Given the description of an element on the screen output the (x, y) to click on. 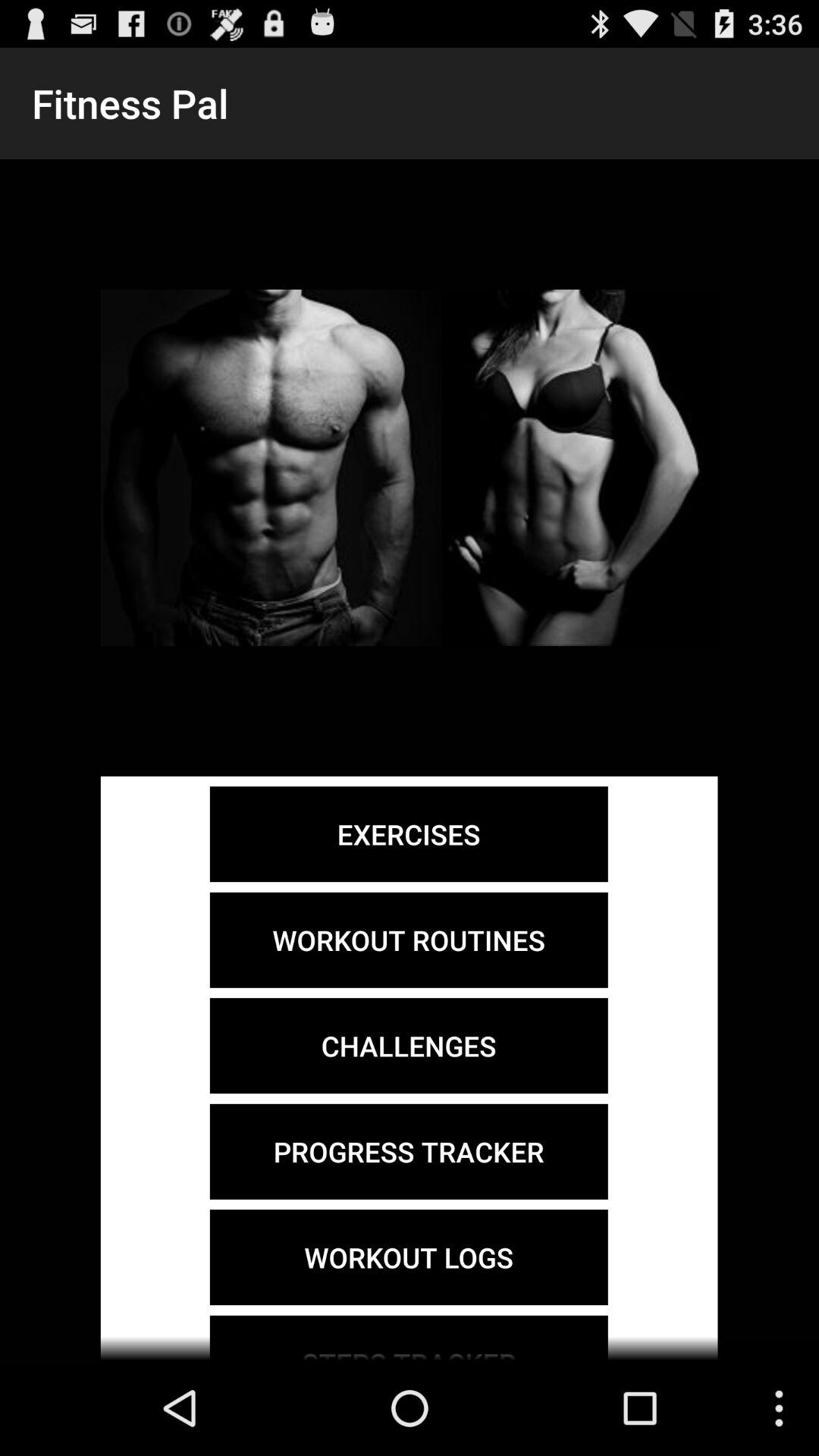
press the icon below challenges (408, 1151)
